Given the description of an element on the screen output the (x, y) to click on. 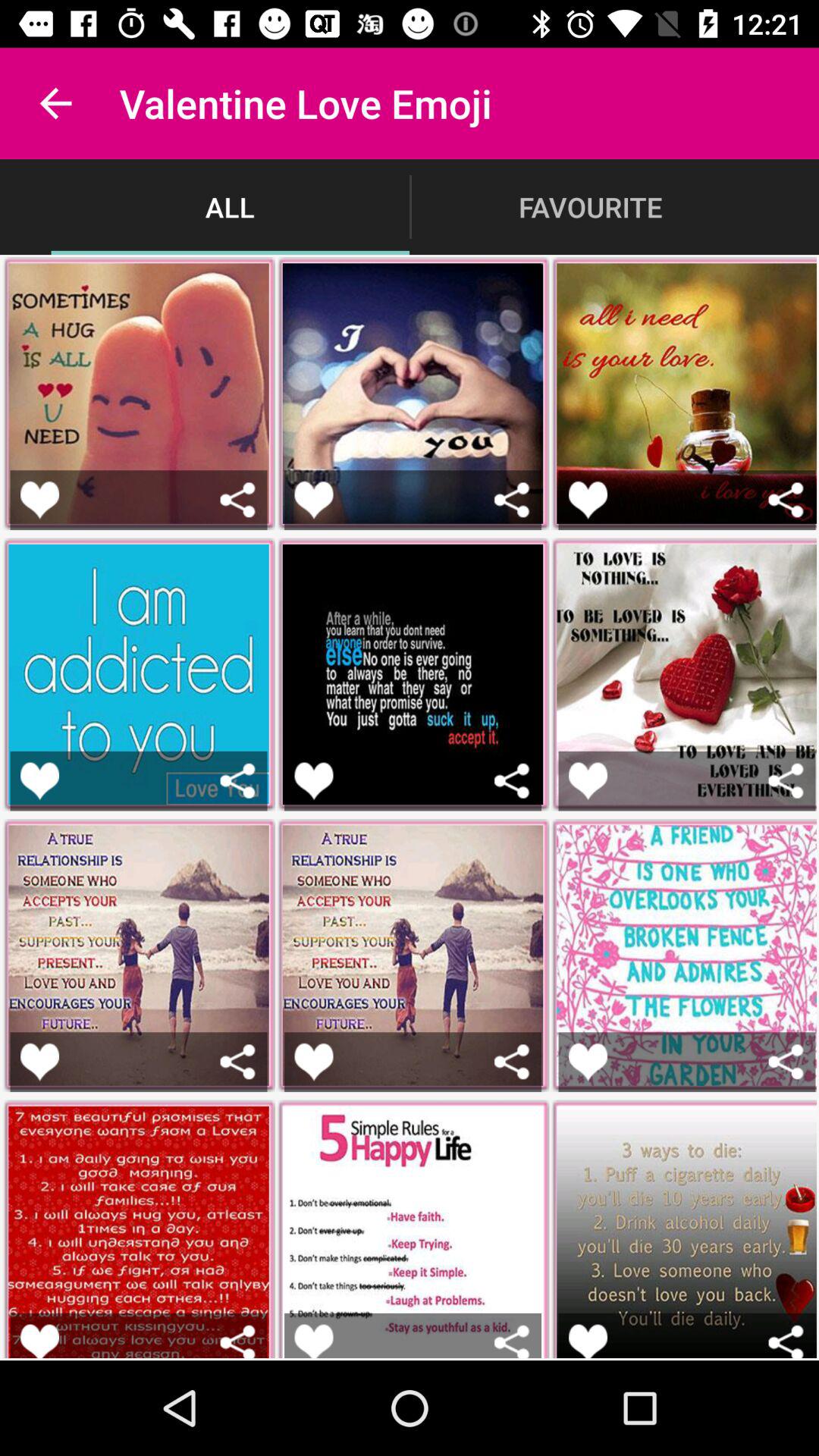
like the selected emoji (39, 1340)
